Given the description of an element on the screen output the (x, y) to click on. 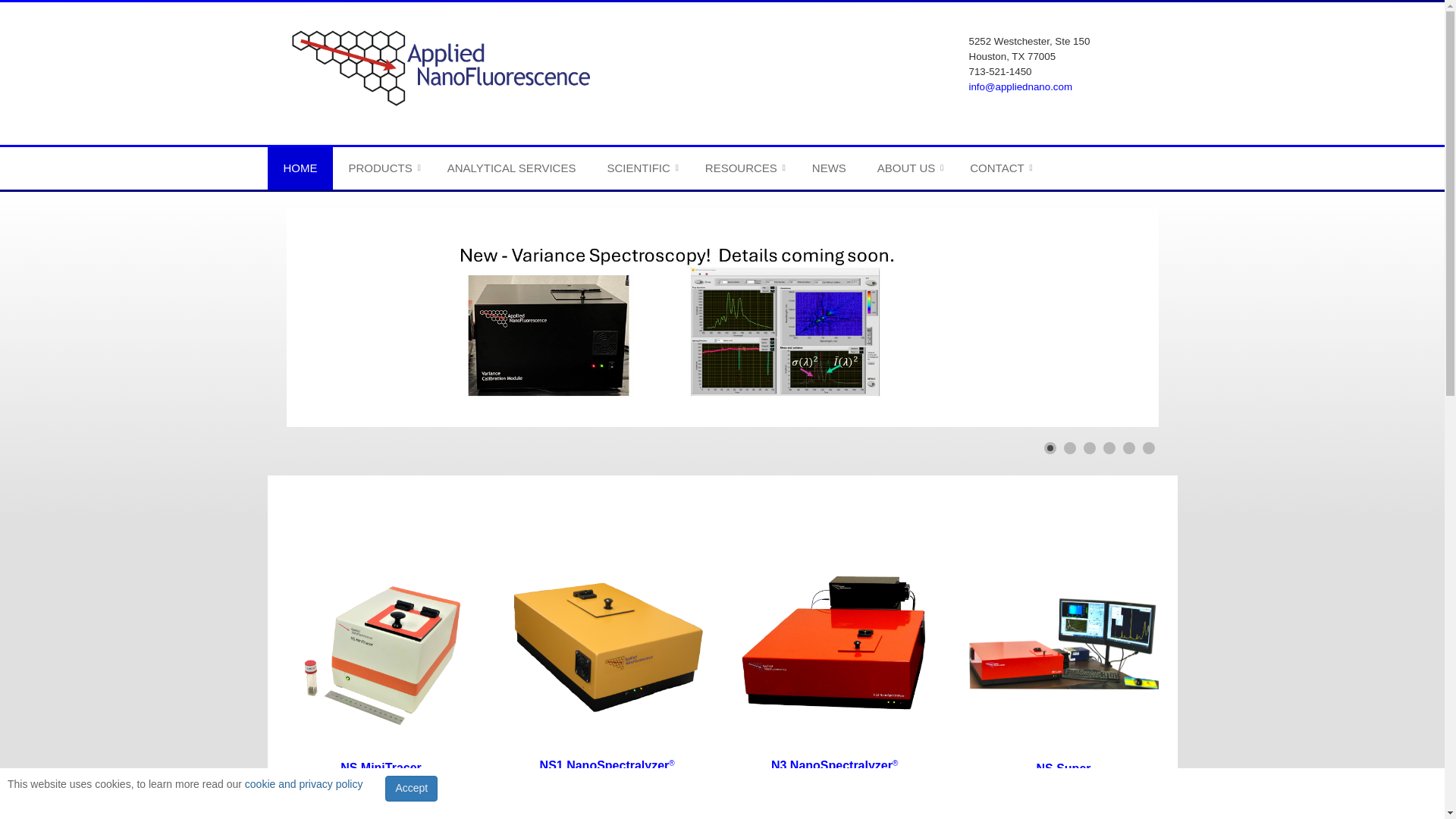
NS MiniTracer (381, 767)
ANALYTICAL SERVICES (511, 168)
ABOUT US (907, 168)
PRODUCTS (381, 168)
NEWS (828, 168)
CONTACT (998, 168)
SCIENTIFIC (639, 168)
RESOURCES (743, 168)
HOME (300, 168)
